Given the description of an element on the screen output the (x, y) to click on. 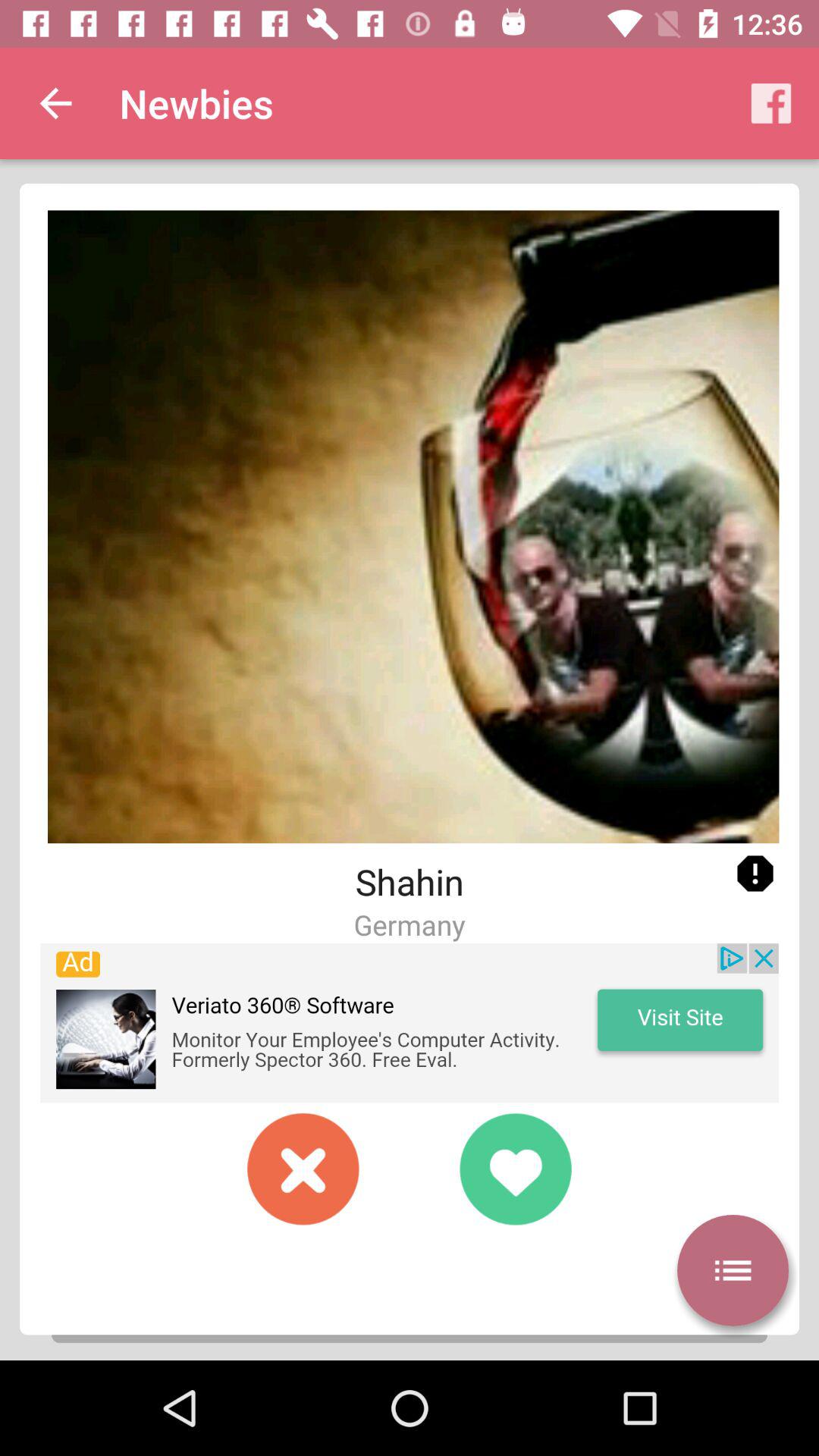
click x button (303, 1169)
